Given the description of an element on the screen output the (x, y) to click on. 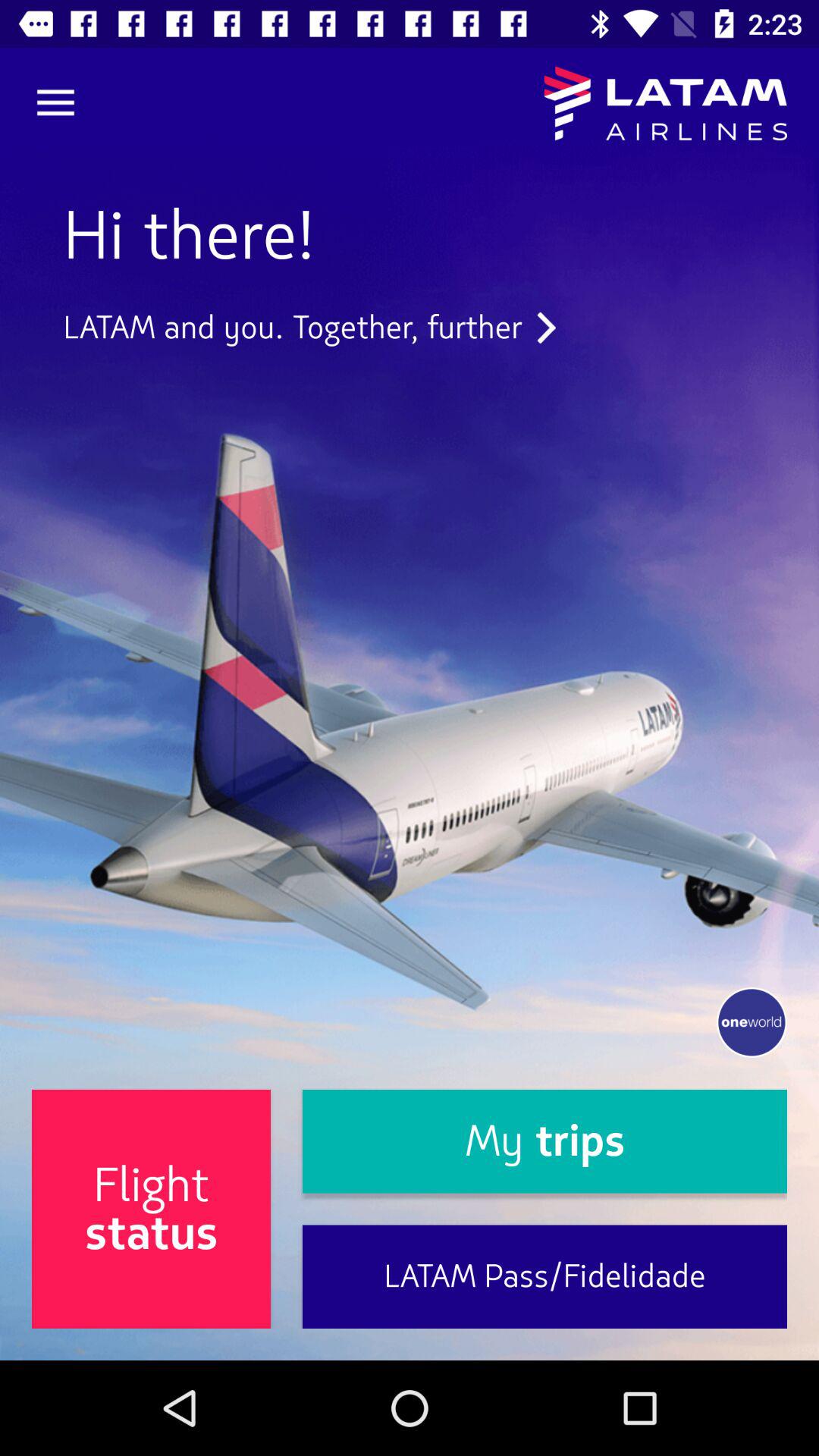
press item to the left of my trips (150, 1208)
